Given the description of an element on the screen output the (x, y) to click on. 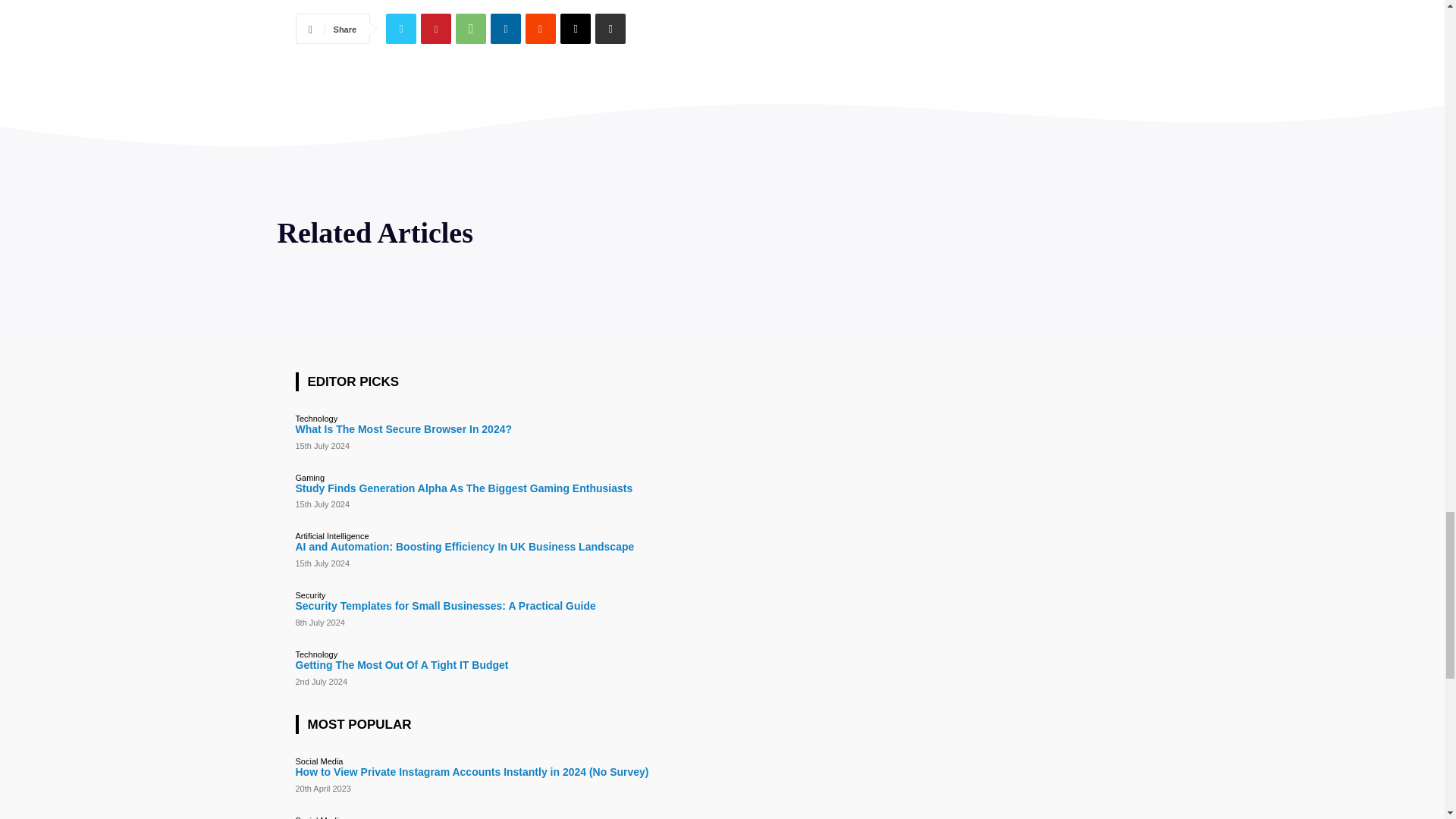
WhatsApp (470, 28)
ReddIt (540, 28)
Email (575, 28)
Twitter (400, 28)
Pinterest (435, 28)
What Is The Most Secure Browser In 2024? (403, 428)
Linkedin (505, 28)
Print (610, 28)
